Given the description of an element on the screen output the (x, y) to click on. 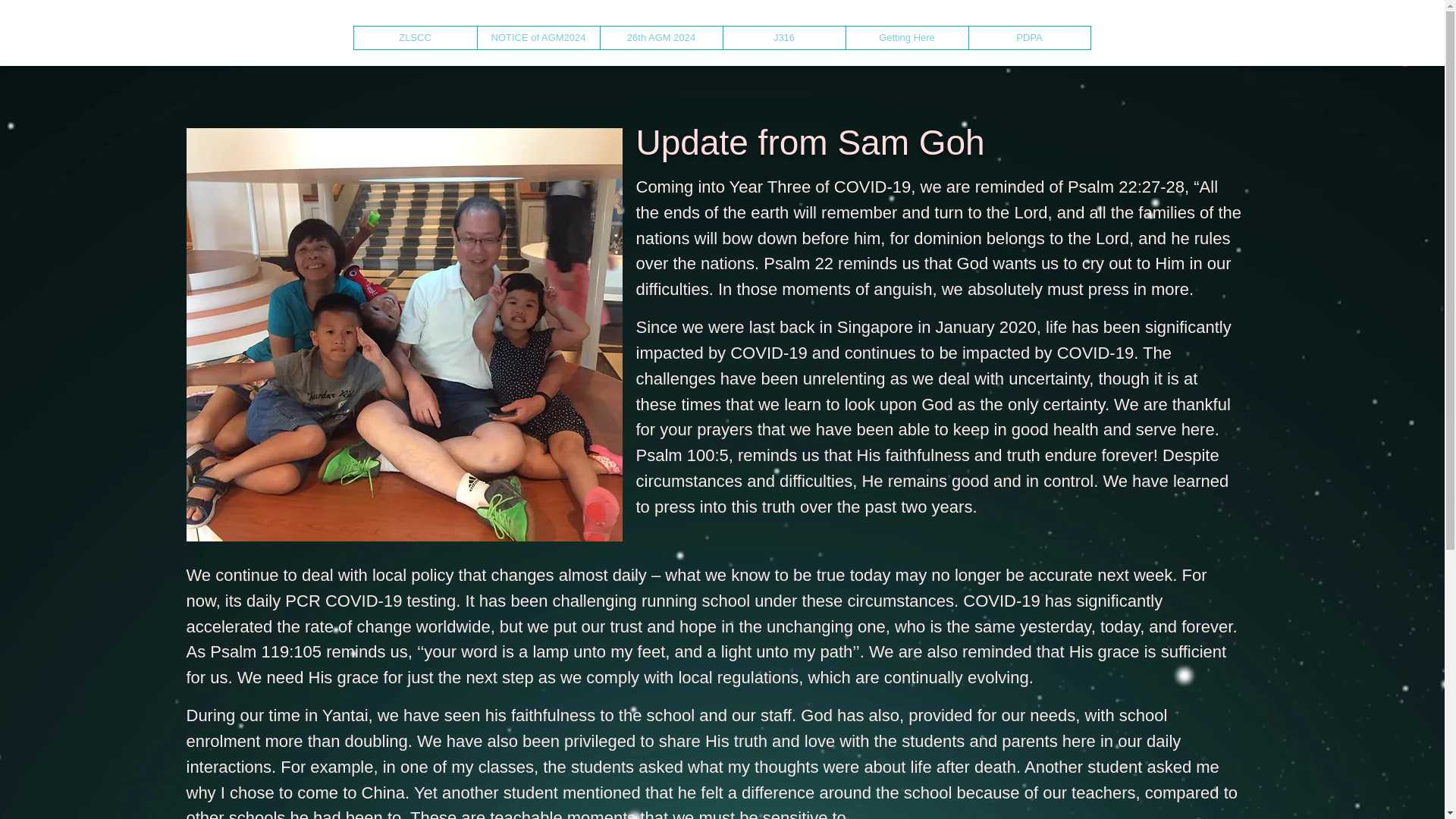
J316 (783, 37)
Getting Here (906, 37)
26th AGM 2024 (660, 37)
PDPA (1028, 37)
ZLSCC (414, 37)
NOTICE of AGM2024 (537, 37)
